Given the description of an element on the screen output the (x, y) to click on. 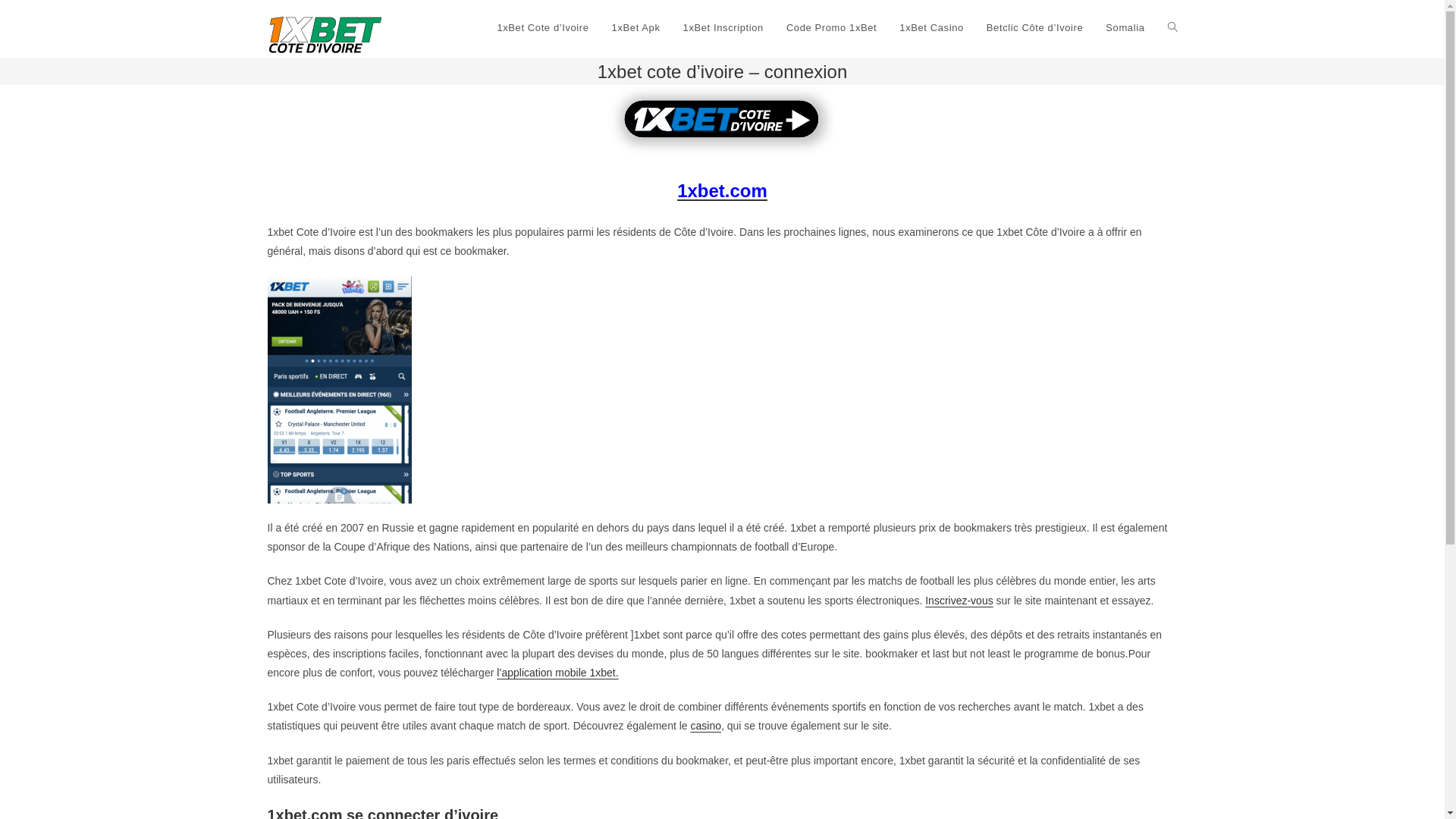
1xbet.com Element type: text (722, 193)
1xBet Apk Element type: text (635, 28)
Inscrivez-vous Element type: text (958, 600)
Code Promo 1xBet Element type: text (831, 28)
casino Element type: text (705, 725)
1xBet Inscription Element type: text (723, 28)
Somalia Element type: text (1124, 28)
1xBet Casino Element type: text (931, 28)
